Given the description of an element on the screen output the (x, y) to click on. 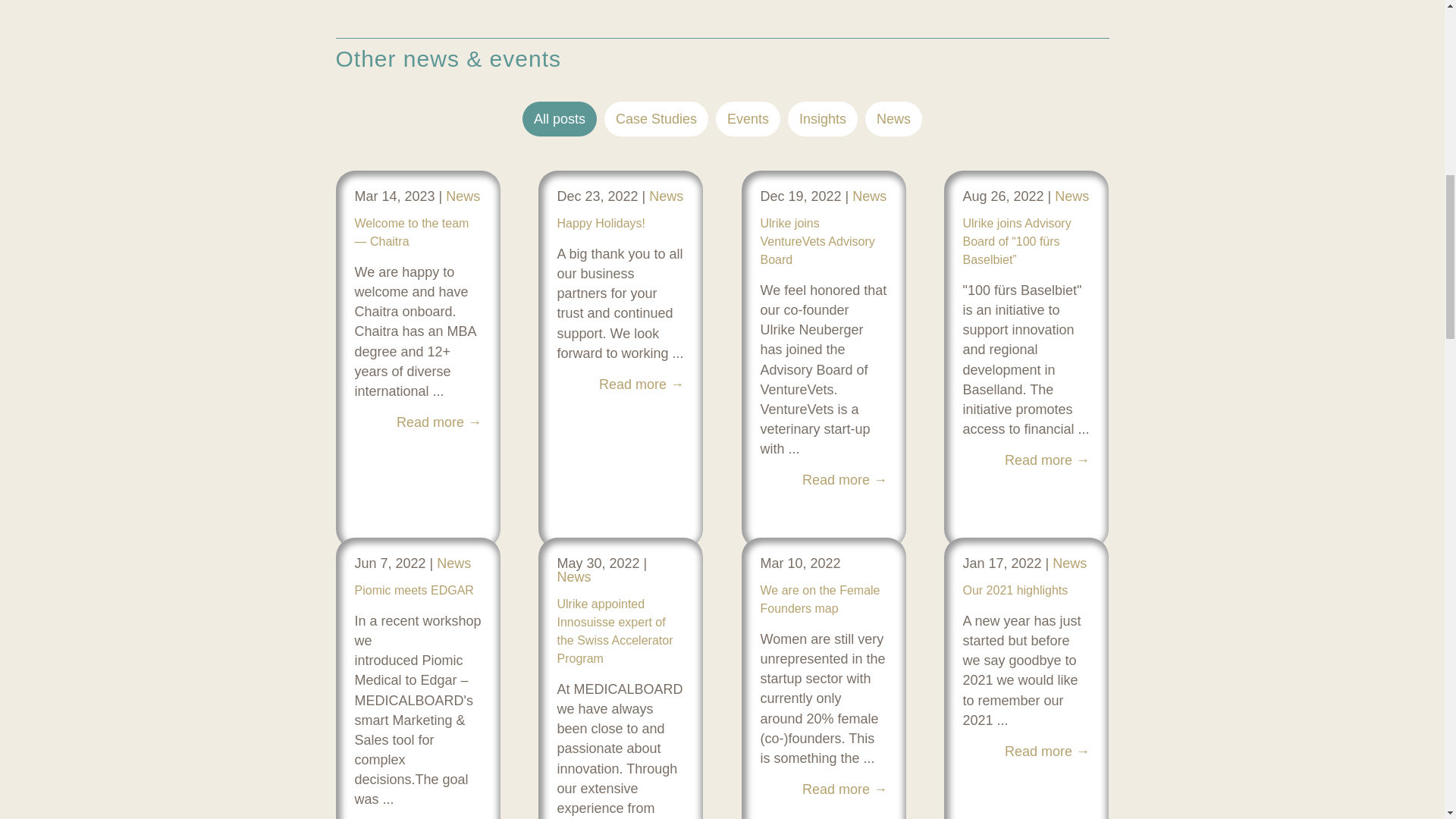
News (573, 576)
Happy Holidays! (600, 223)
News (462, 196)
Our 2021 highlights (1015, 590)
Happy Holidays! (600, 223)
We are on the Female Founders map (819, 599)
Piomic meets EDGAR (414, 590)
News (665, 196)
News (453, 563)
